Given the description of an element on the screen output the (x, y) to click on. 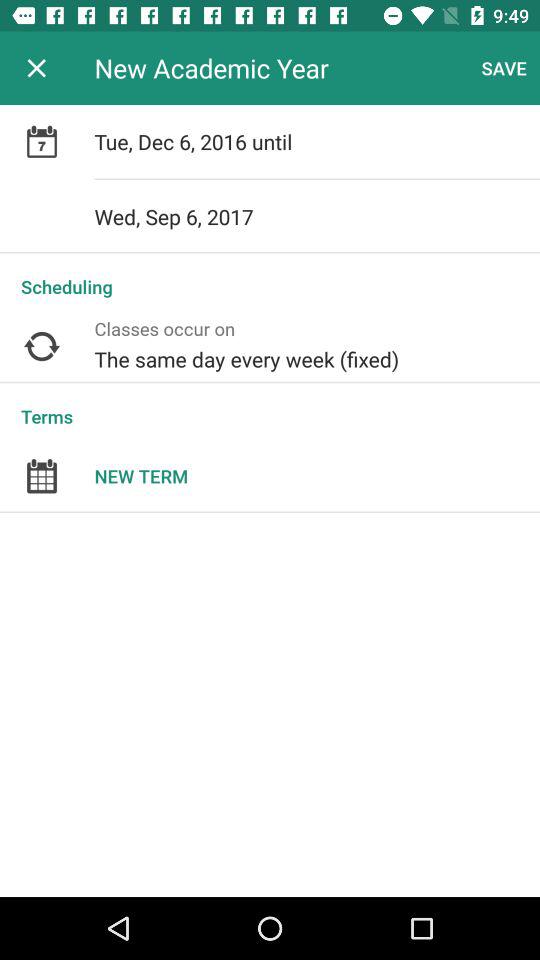
turn off new term item (317, 476)
